Given the description of an element on the screen output the (x, y) to click on. 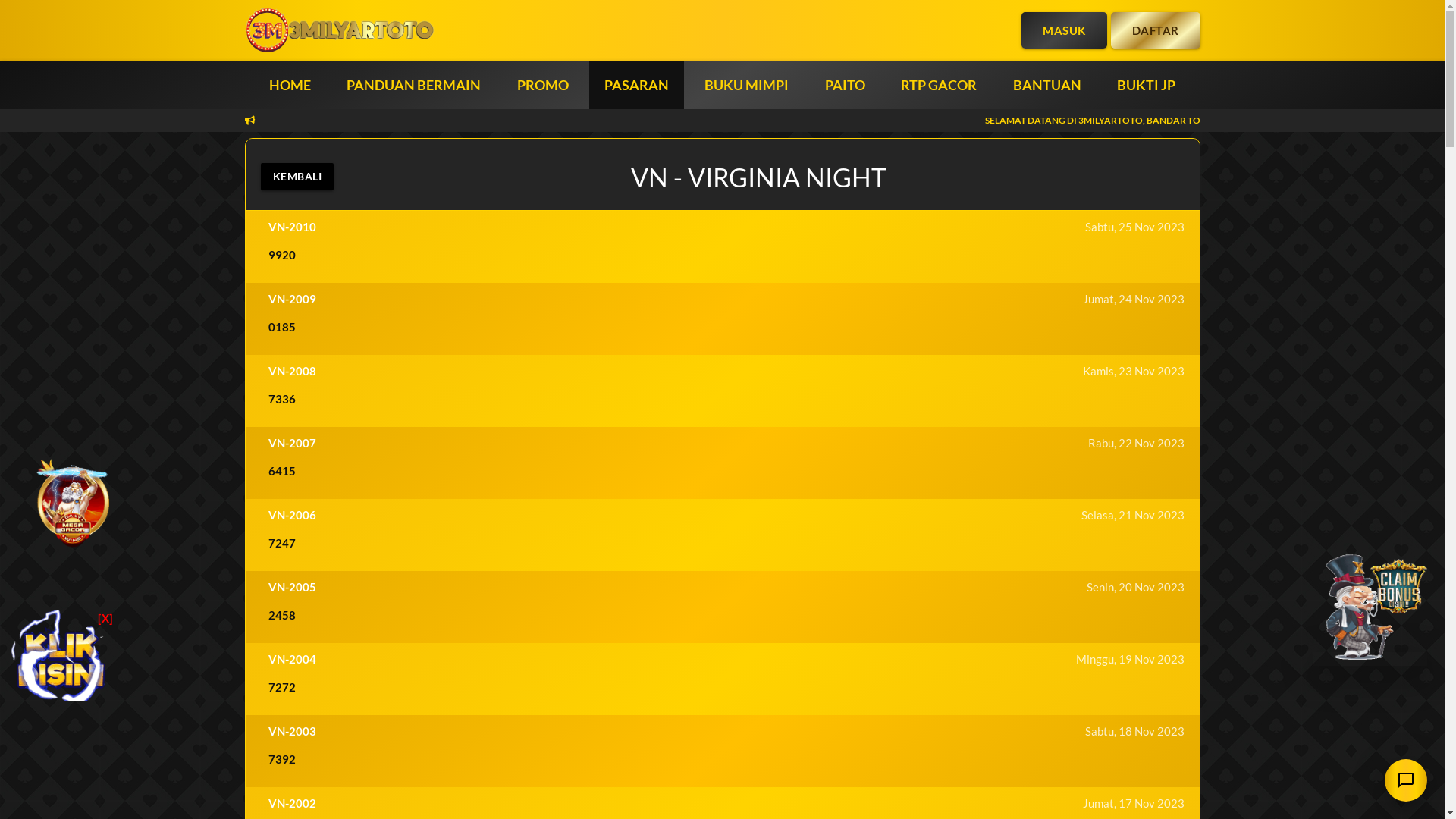
PANDUAN BERMAIN Element type: text (413, 84)
PAITO Element type: text (844, 84)
KEMBALI Element type: text (297, 176)
BUKU MIMPI Element type: text (746, 84)
HOME Element type: text (289, 84)
RTP GACOR Element type: text (938, 84)
PASARAN Element type: text (636, 84)
BANTUAN Element type: text (1046, 84)
chat_bubble_outline Element type: text (1405, 780)
PROMO Element type: text (542, 84)
DAFTAR Element type: text (1154, 30)
MASUK Element type: text (1064, 30)
BUKTI JP Element type: text (1145, 84)
